Given the description of an element on the screen output the (x, y) to click on. 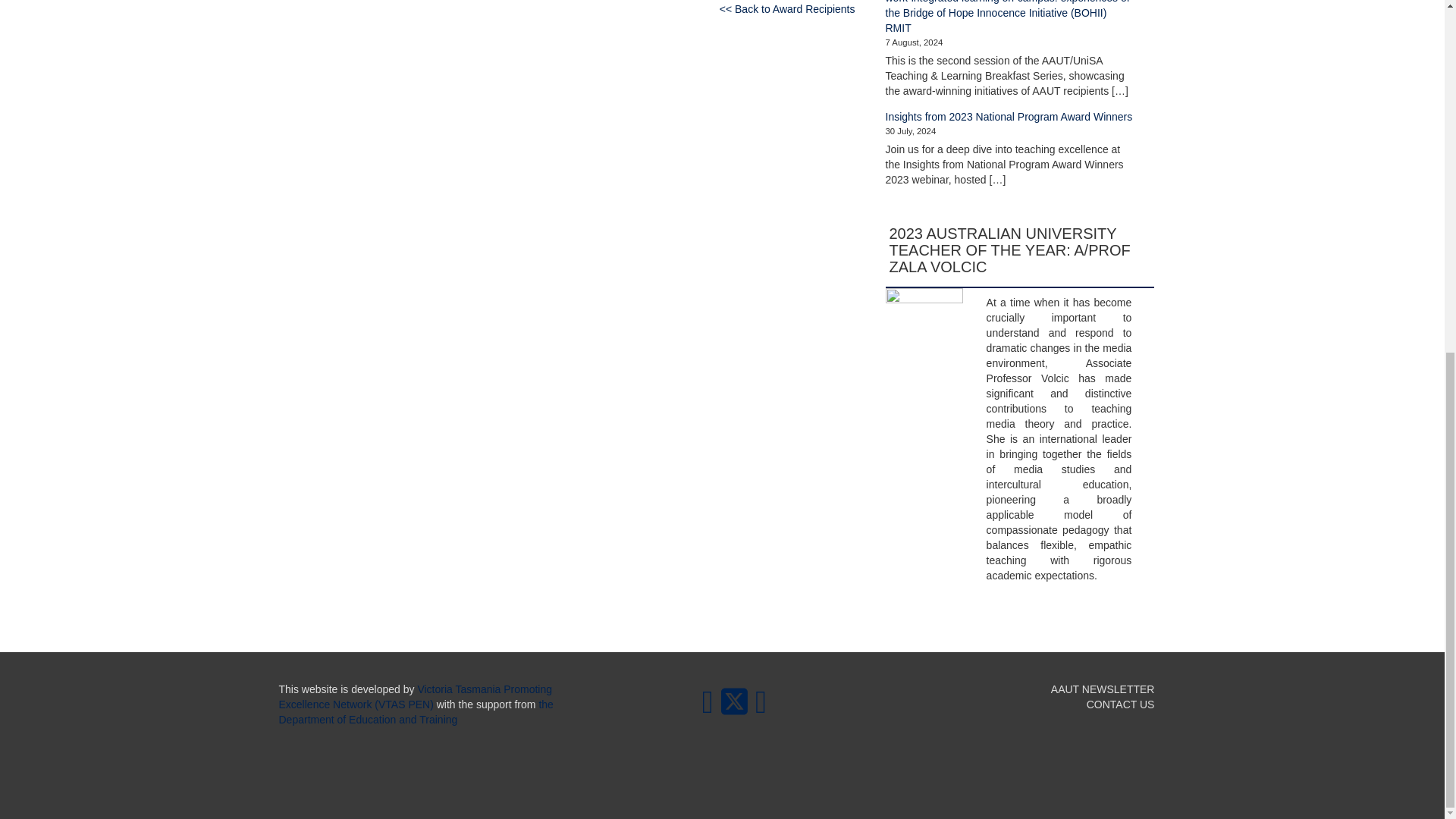
Insights from 2023 National Program Award Winners (1008, 116)
CONTACT US (1120, 704)
AAUT NEWSLETTER (1102, 689)
the Department of Education and Training (416, 711)
